Given the description of an element on the screen output the (x, y) to click on. 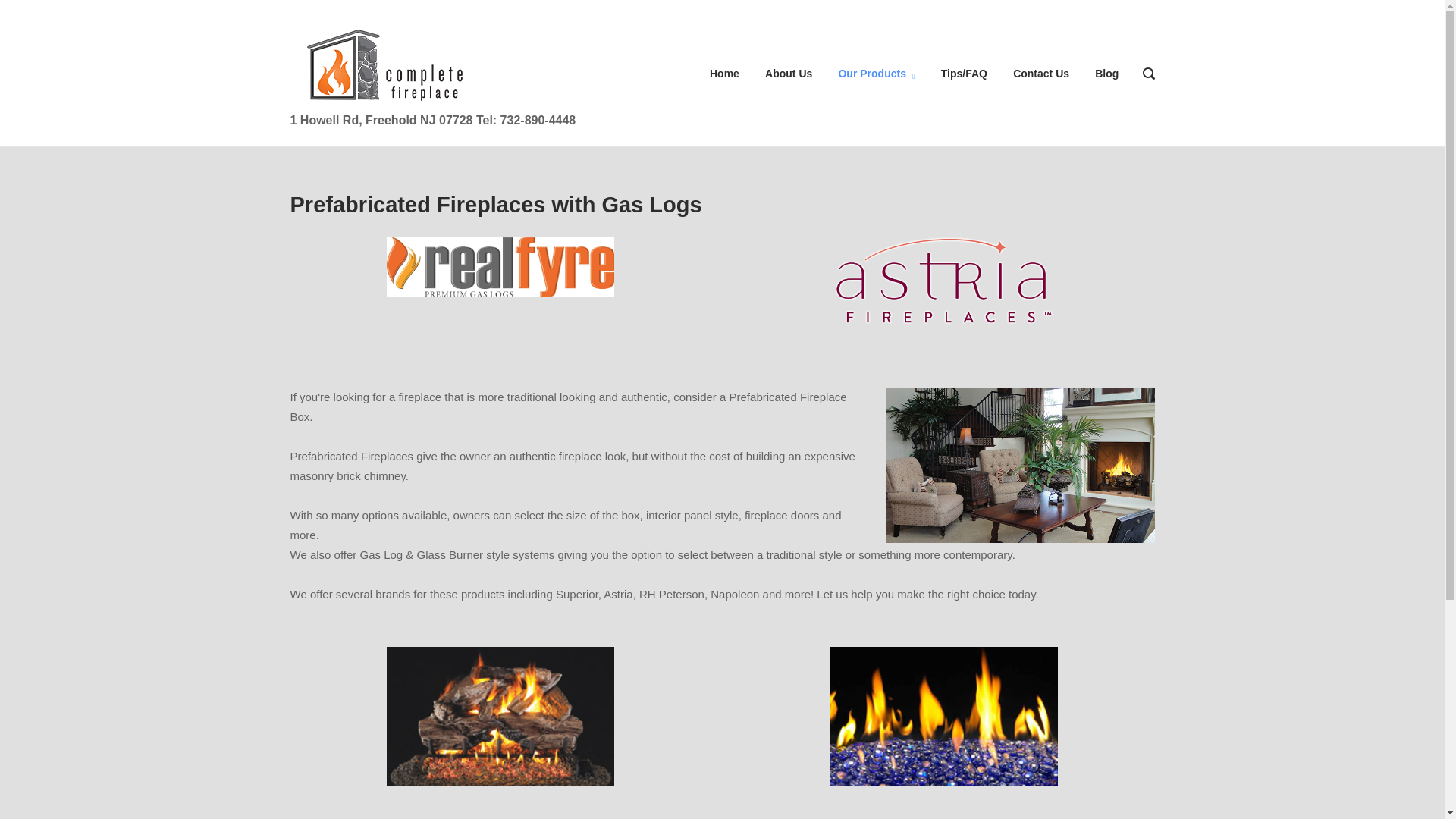
Our Products (876, 72)
Home (380, 64)
Contact Us (1040, 72)
About Us (788, 72)
Blog (1106, 72)
Home (724, 72)
